Given the description of an element on the screen output the (x, y) to click on. 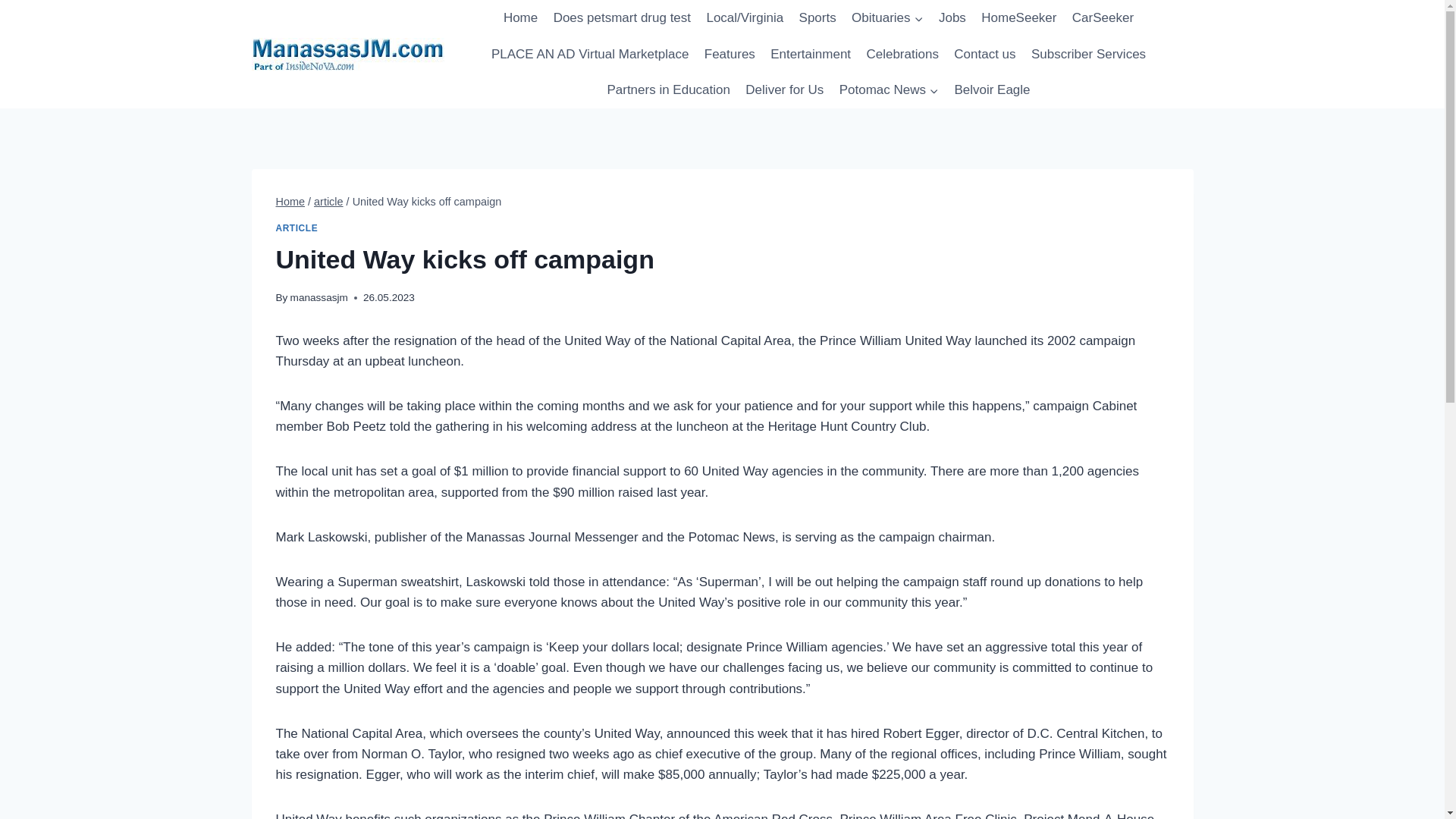
Home (521, 18)
Entertainment (810, 54)
Belvoir Eagle (992, 90)
Does petsmart drug test (621, 18)
HomeSeeker (1019, 18)
Partners in Education (668, 90)
article (328, 201)
Features (729, 54)
Jobs (952, 18)
Celebrations (902, 54)
Home (290, 201)
PLACE AN AD Virtual Marketplace (590, 54)
Sports (817, 18)
Deliver for Us (784, 90)
Potomac News (888, 90)
